Given the description of an element on the screen output the (x, y) to click on. 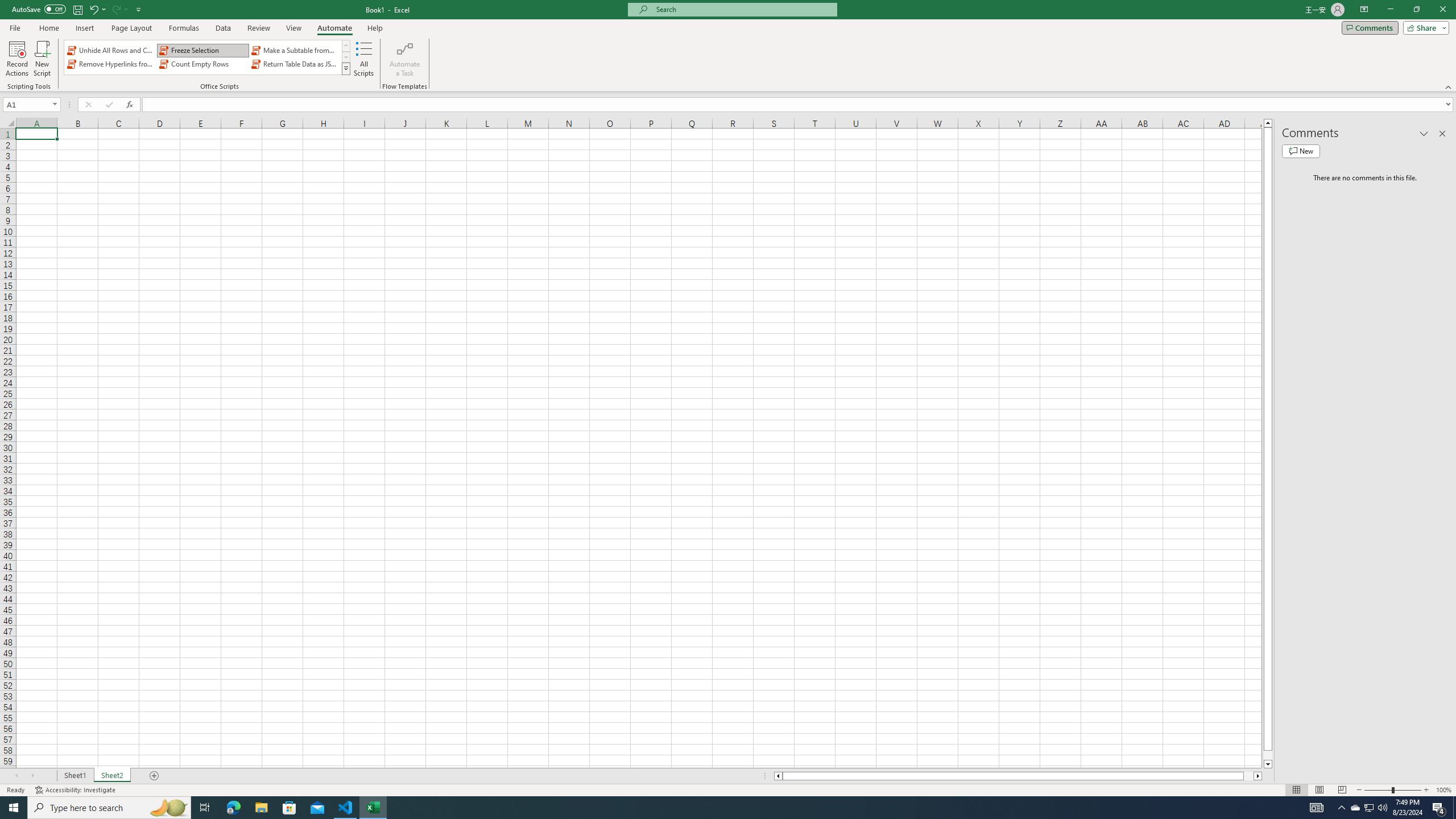
All Scripts (363, 58)
Unhide All Rows and Columns (111, 50)
Count Empty Rows (202, 64)
AutomationID: OfficeScriptsGallery (207, 57)
Return Table Data as JSON (294, 64)
Remove Hyperlinks from Sheet (111, 64)
